Given the description of an element on the screen output the (x, y) to click on. 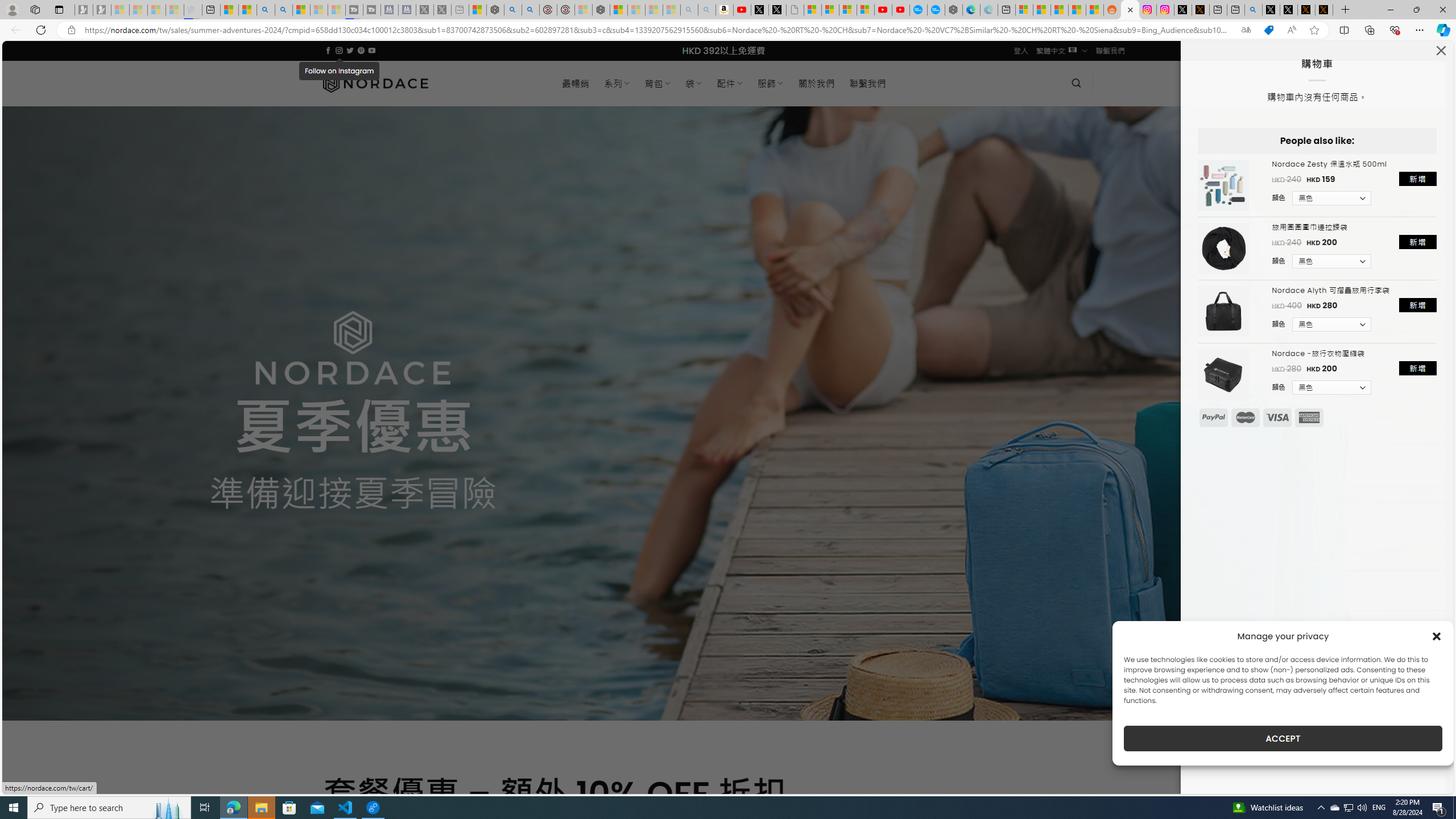
Class: cmplz-close (1436, 636)
Profile / X (1270, 9)
ACCEPT (1283, 738)
